Given the description of an element on the screen output the (x, y) to click on. 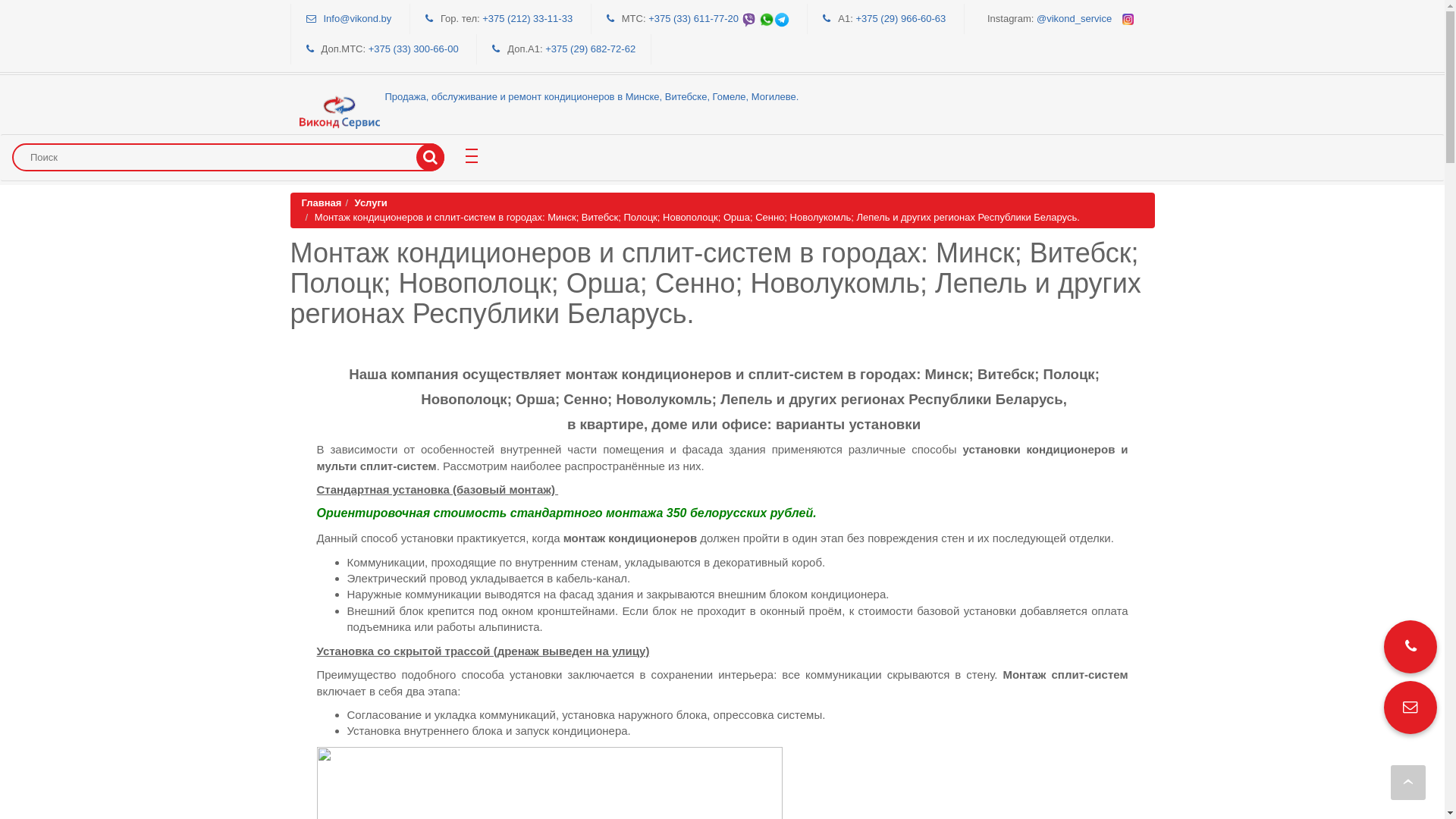
+375 (33) 611-77-20 Element type: text (718, 18)
Info@vikond.by Element type: text (357, 18)
+375 (29) 966-60-63 Element type: text (900, 18)
+375 (29) 682-72-62 Element type: text (590, 48)
+375 (33) 300-66-00 Element type: text (413, 48)
+375 (212) 33-11-33 Element type: text (527, 18)
@vikond_service Element type: text (1084, 18)
Search Element type: hover (430, 157)
